Given the description of an element on the screen output the (x, y) to click on. 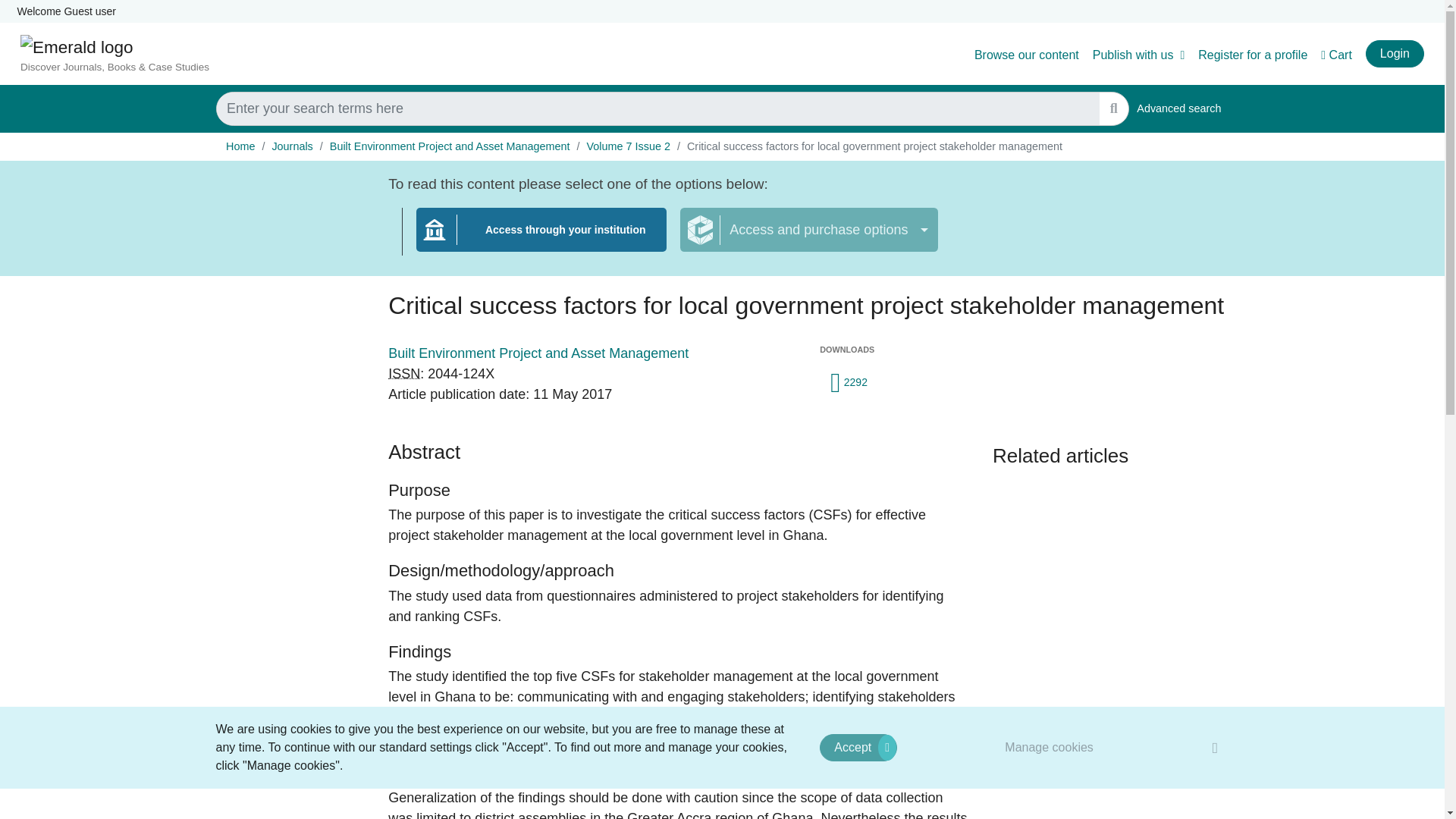
This item has been downloaded 2292 times since 2017. (847, 379)
Register for a profile (1252, 54)
Accept (857, 747)
Publish with us (1139, 54)
Browse our content (1026, 54)
Volume 7 Issue 2 (627, 146)
International Standard Serial Number. (404, 373)
Journals (291, 146)
Access through your institution (541, 239)
Home (239, 146)
Cart (1336, 54)
Login (1394, 53)
SUBMIT (1113, 108)
Built Environment Project and Asset Management (450, 146)
